Given the description of an element on the screen output the (x, y) to click on. 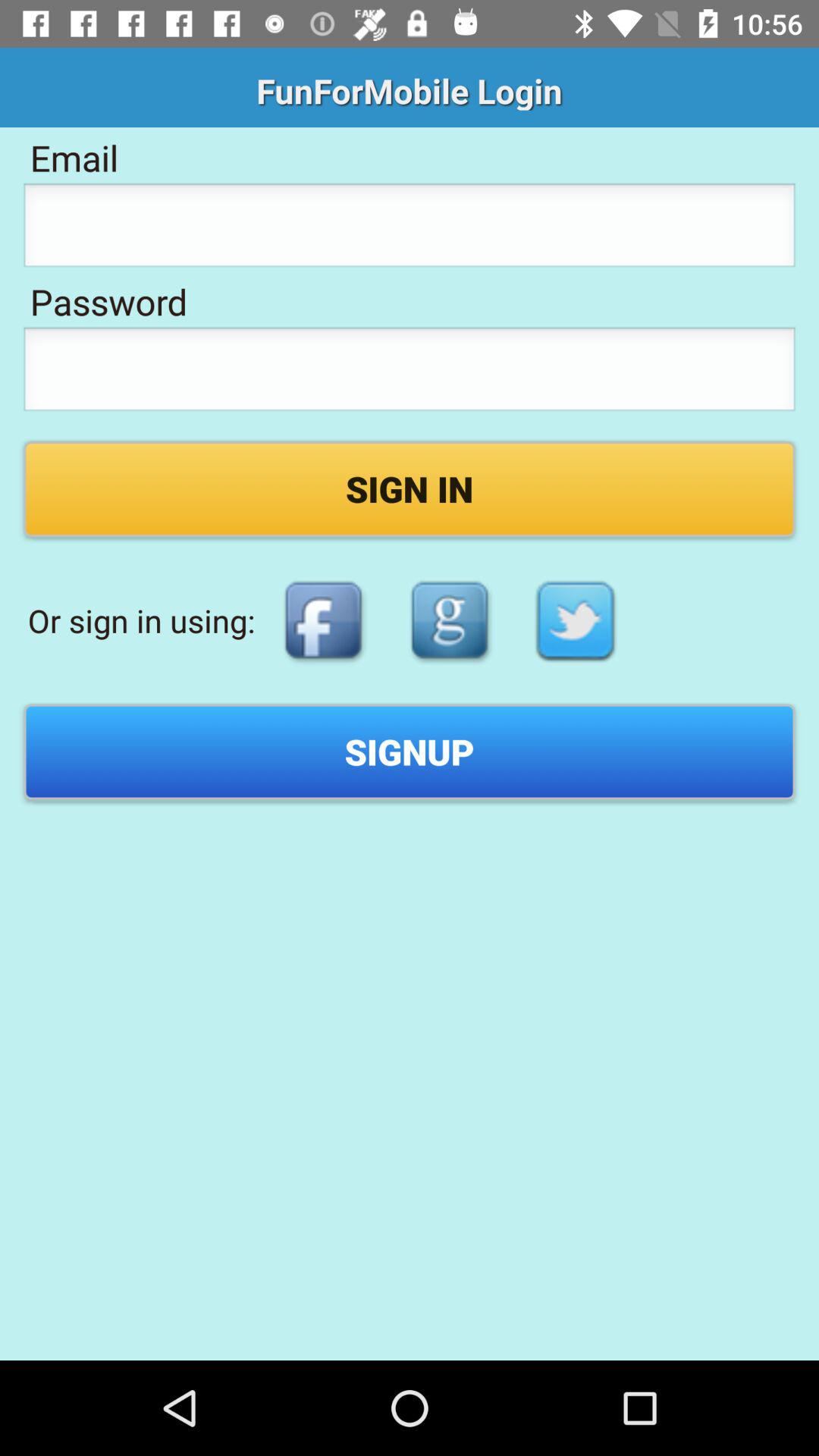
click the icon below sign in icon (323, 620)
